Given the description of an element on the screen output the (x, y) to click on. 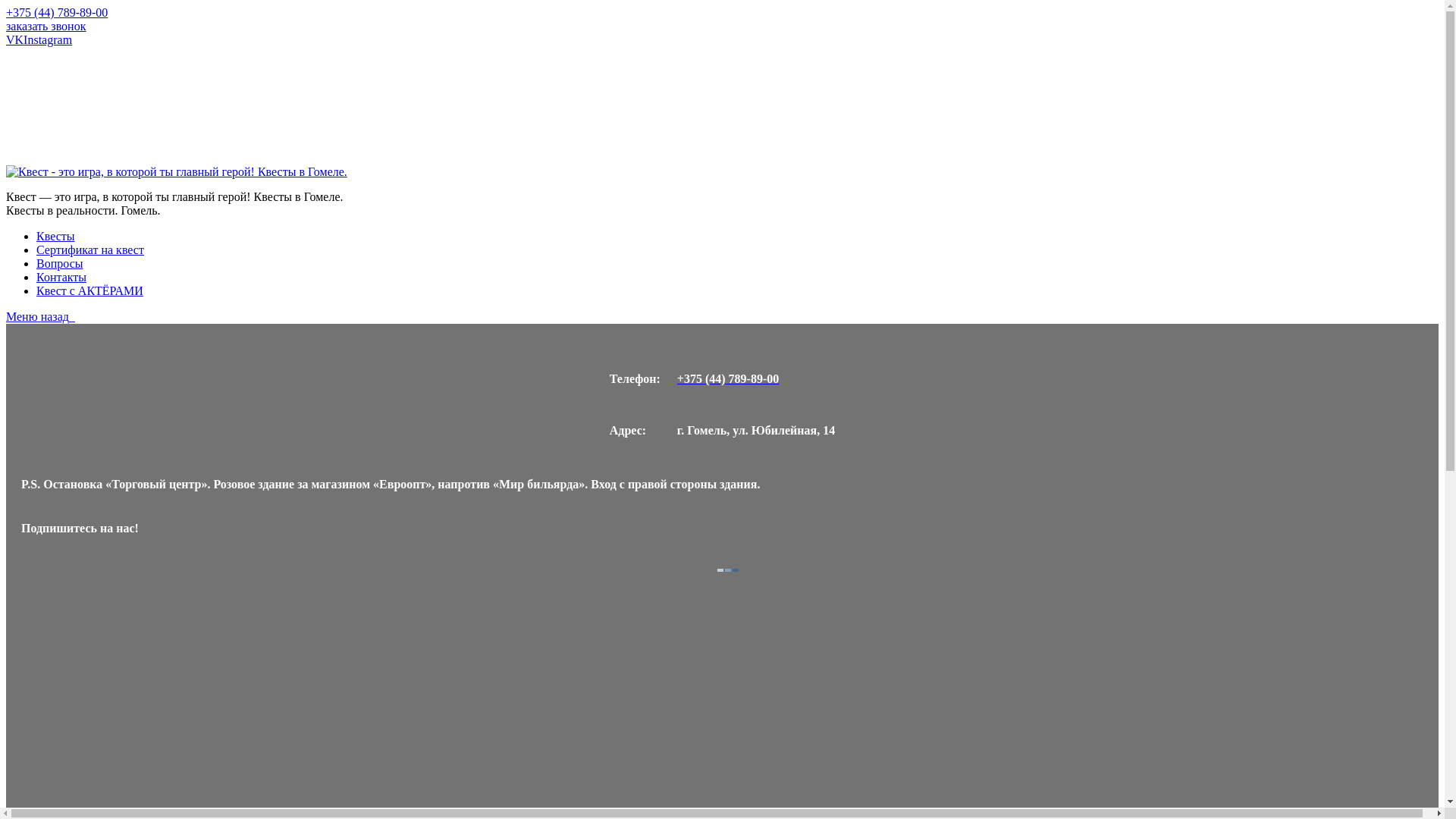
+375 (44) 789-89-00 Element type: text (56, 12)
VK Element type: text (14, 39)
+375 (44) 789-89-00 Element type: text (755, 378)
Instagram Element type: text (47, 39)
